Given the description of an element on the screen output the (x, y) to click on. 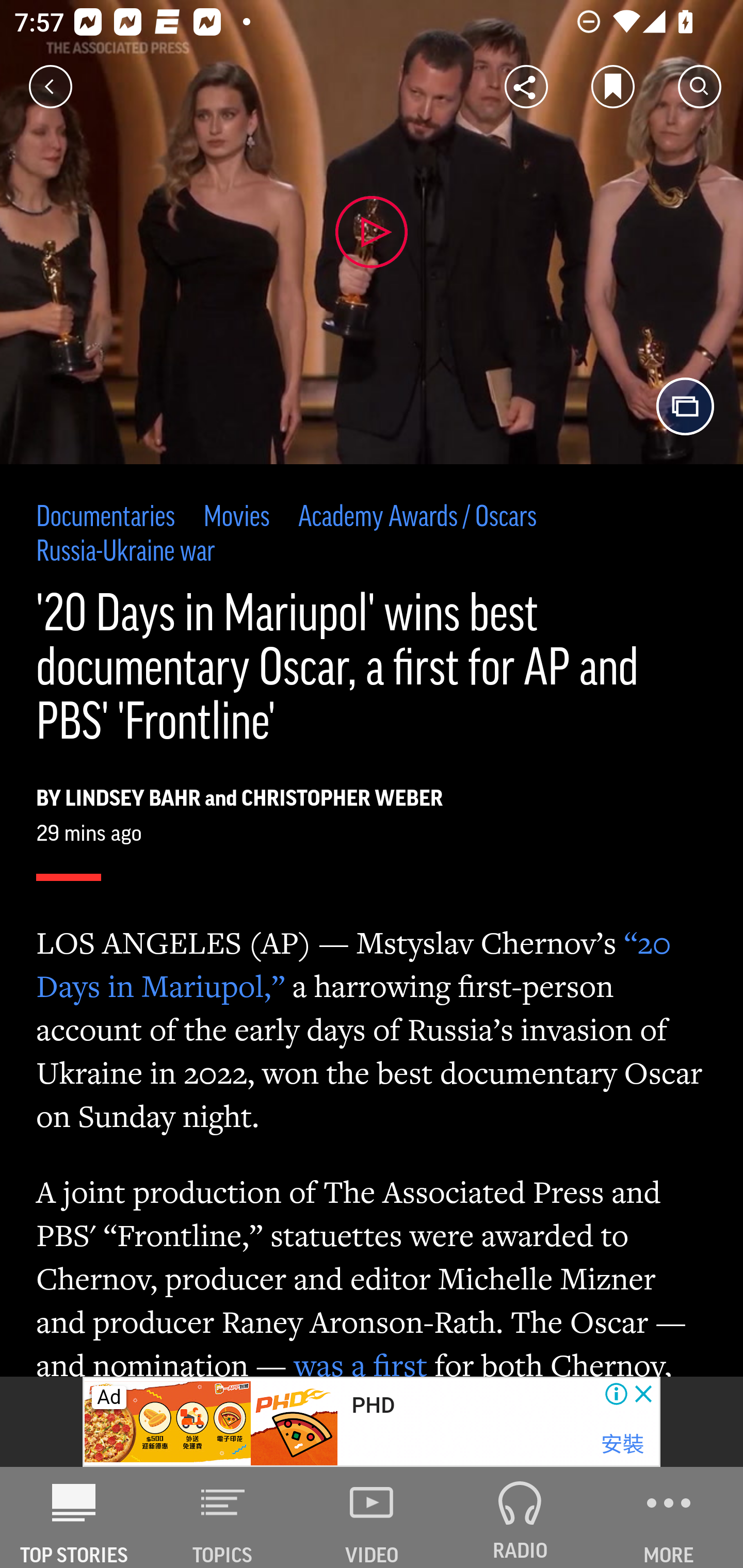
Documentaries (106, 518)
Movies (236, 518)
Academy Awards / Oscars (417, 518)
Russia-Ukraine war (126, 552)
“20 Days in Mariupol,” (353, 963)
B30001746 (168, 1421)
PHD (372, 1405)
安裝 (621, 1444)
AP News TOP STORIES (74, 1517)
TOPICS (222, 1517)
VIDEO (371, 1517)
RADIO (519, 1517)
MORE (668, 1517)
